Given the description of an element on the screen output the (x, y) to click on. 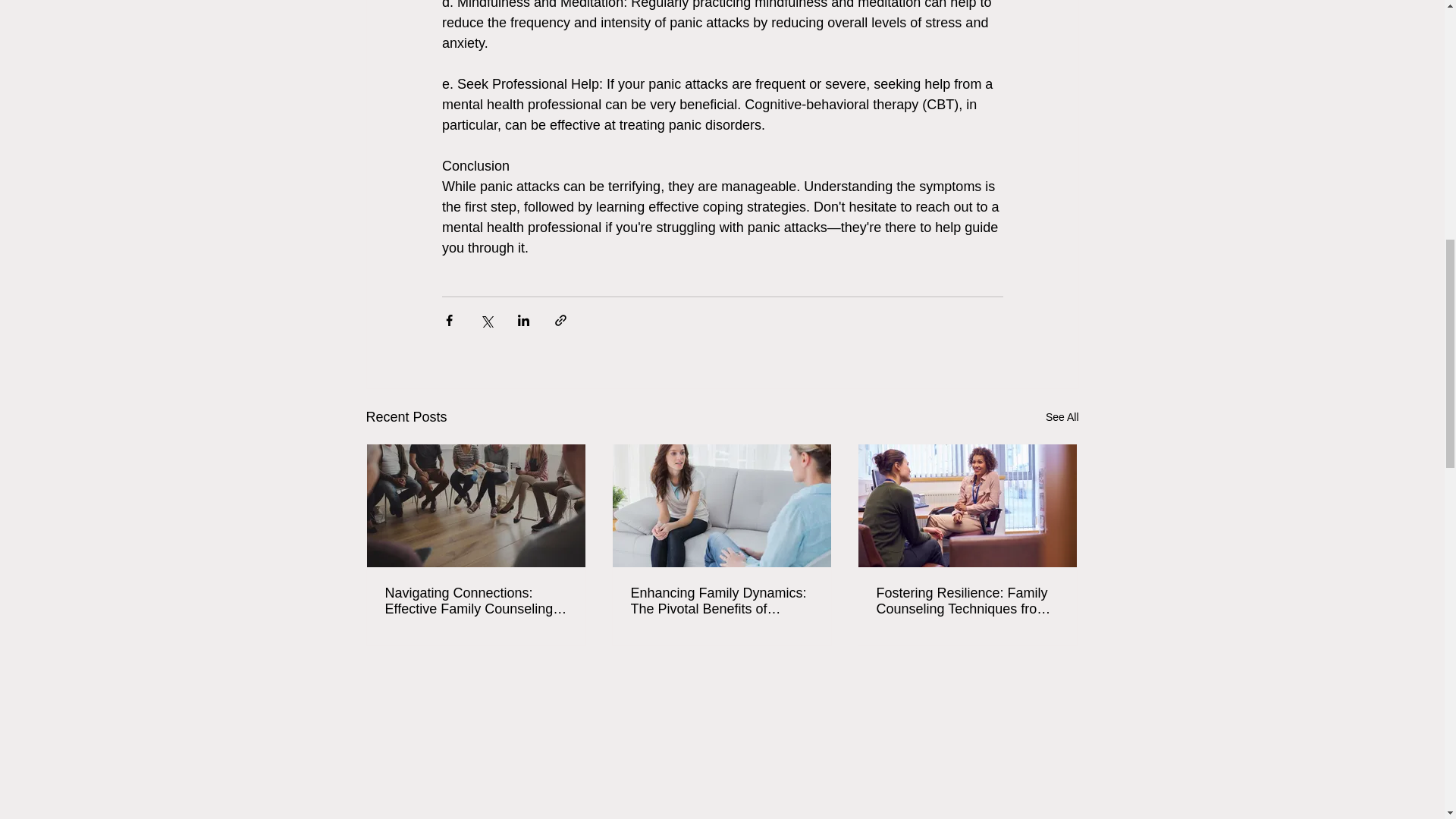
See All (1061, 417)
